Given the description of an element on the screen output the (x, y) to click on. 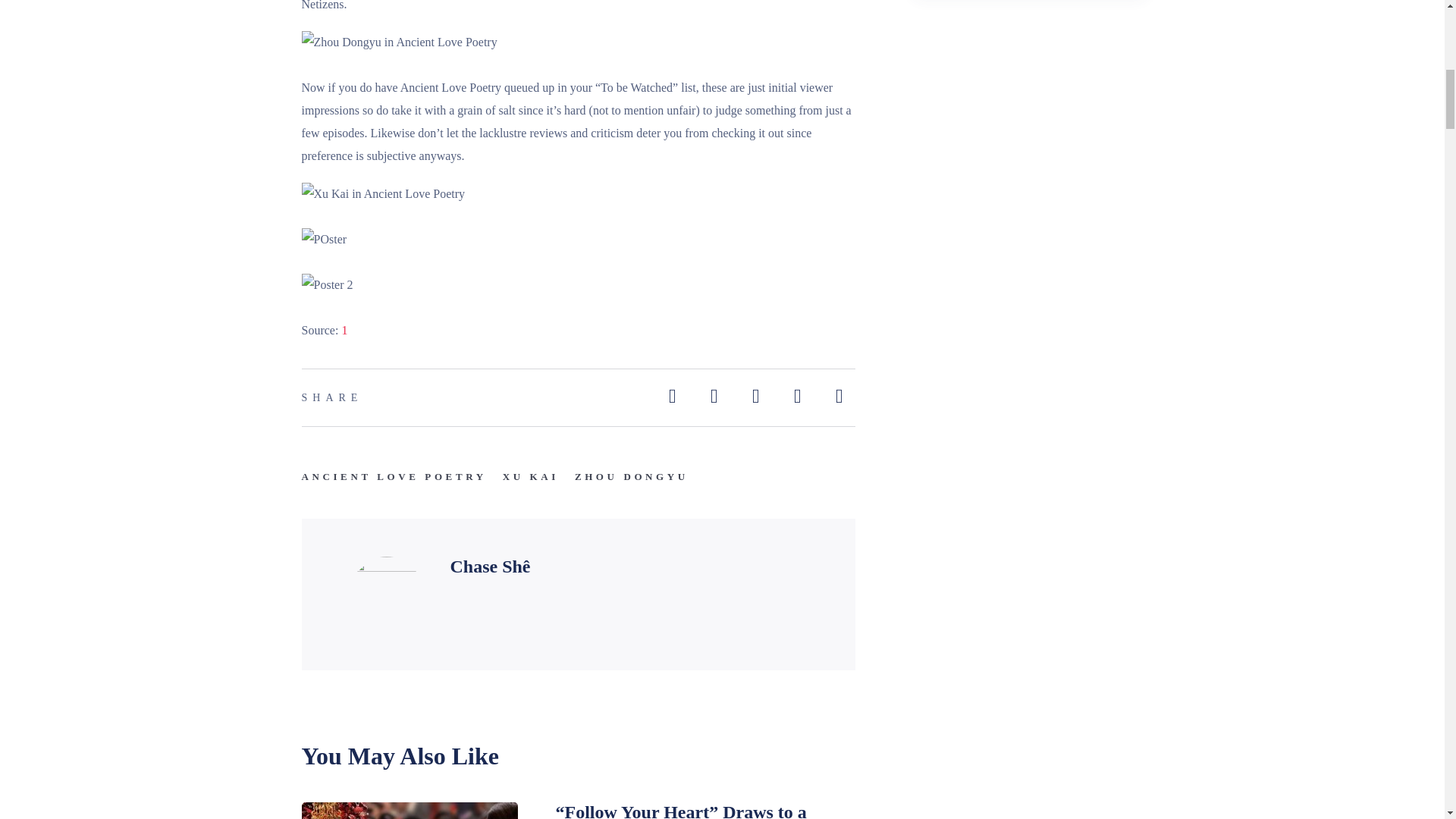
ANCIENT LOVE POETRY (393, 476)
ZHOU DONGYU (631, 476)
XU KAI (530, 476)
